Given the description of an element on the screen output the (x, y) to click on. 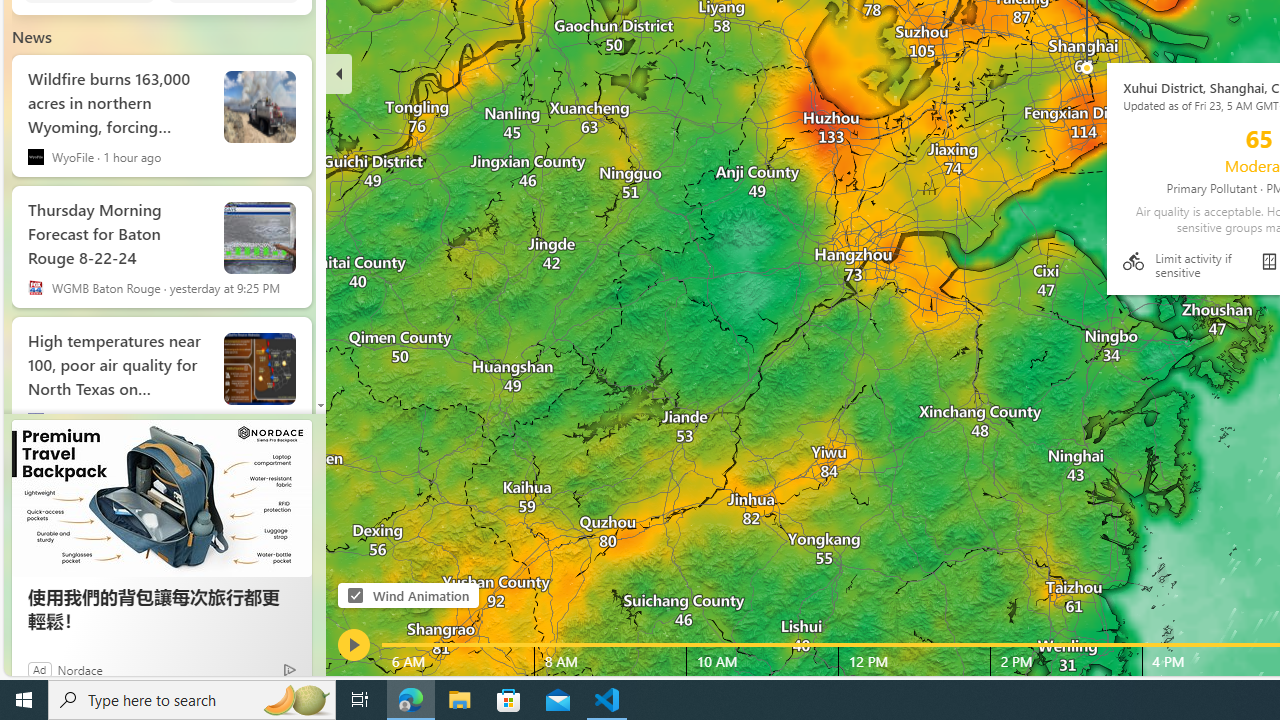
Wind Animation (355, 595)
WyoFile (35, 156)
